Given the description of an element on the screen output the (x, y) to click on. 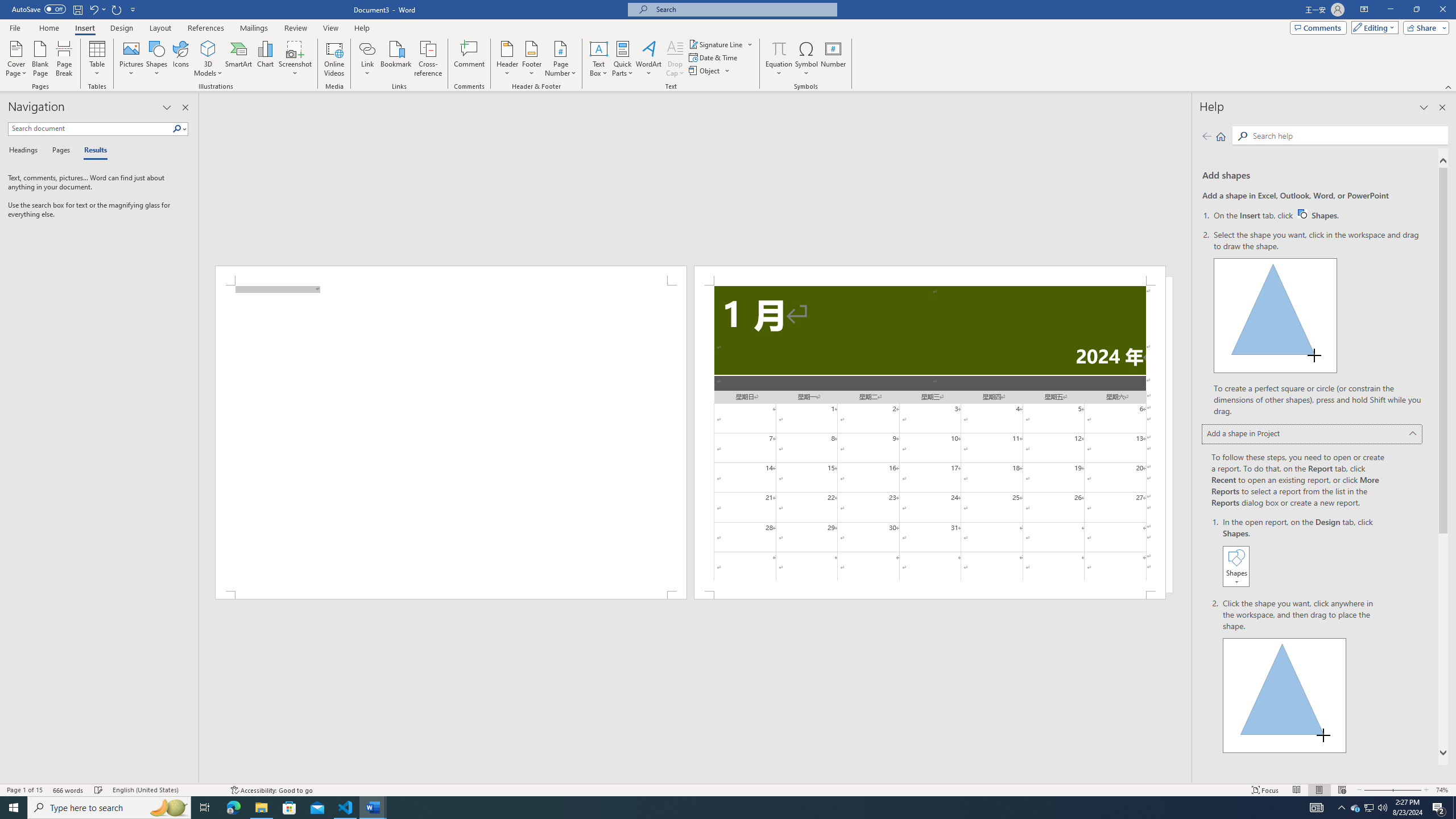
Shapes (156, 58)
Table (97, 58)
Text Box (598, 58)
Number... (833, 58)
